Given the description of an element on the screen output the (x, y) to click on. 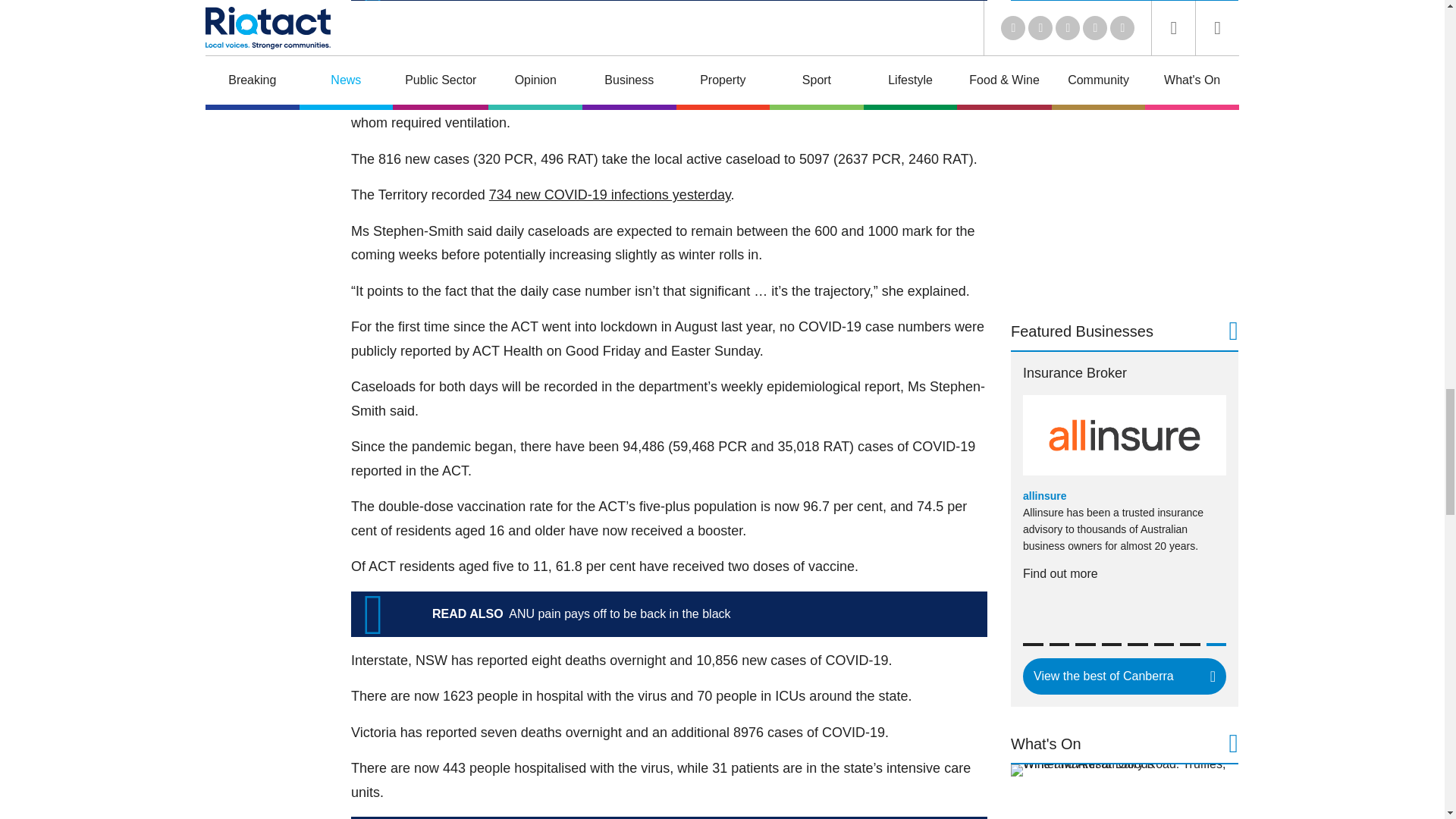
   Vote    (1078, 22)
